Given the description of an element on the screen output the (x, y) to click on. 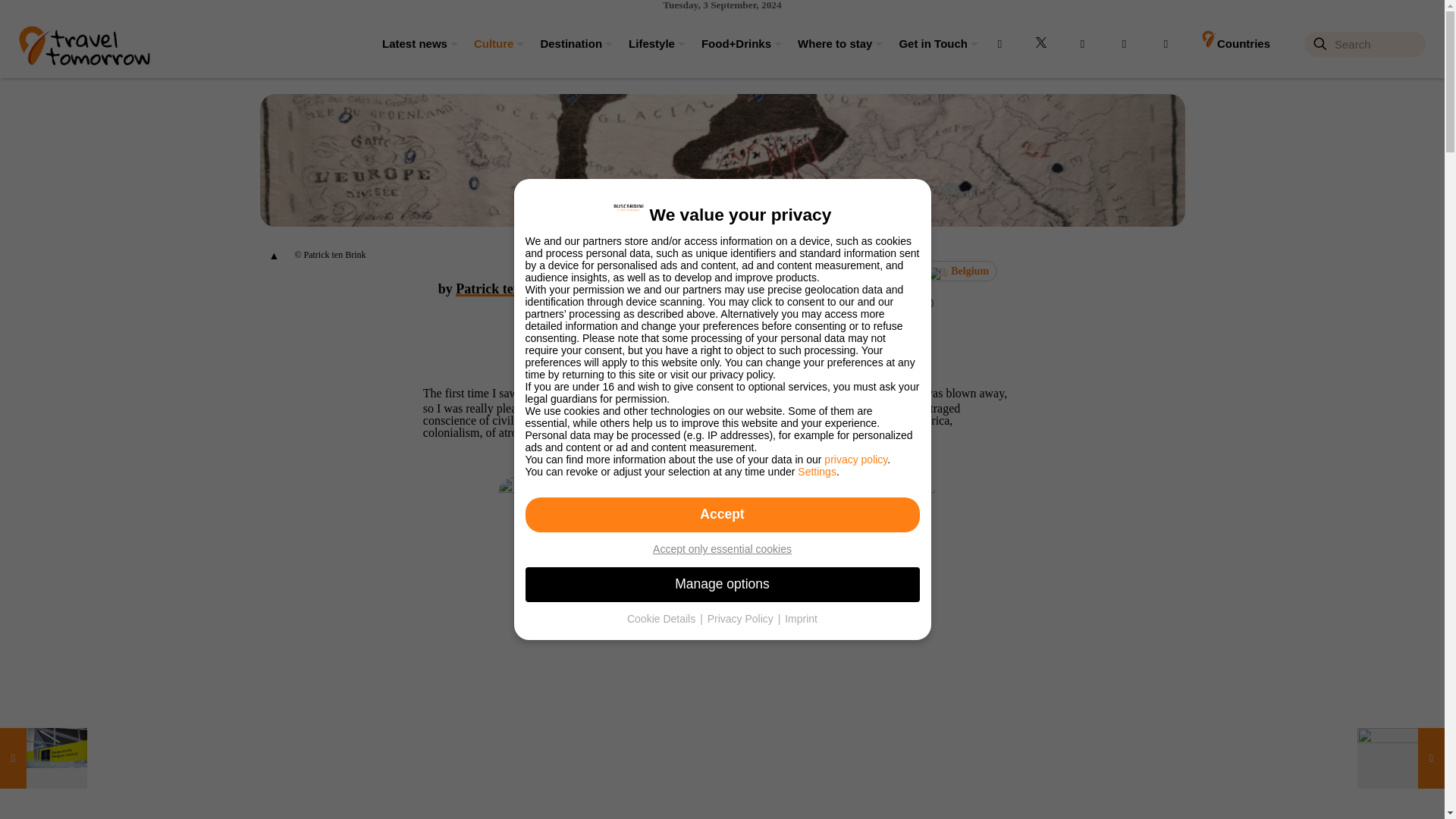
Share on Email (900, 302)
Culture (491, 43)
Latest news (412, 43)
Share on Twitter (847, 302)
Lifestyle (648, 43)
Share on Facebook (820, 302)
Share on WhatsApp (927, 302)
Share on LinkedIn (874, 302)
Travel Tomorrow (83, 43)
Destination (568, 43)
